Given the description of an element on the screen output the (x, y) to click on. 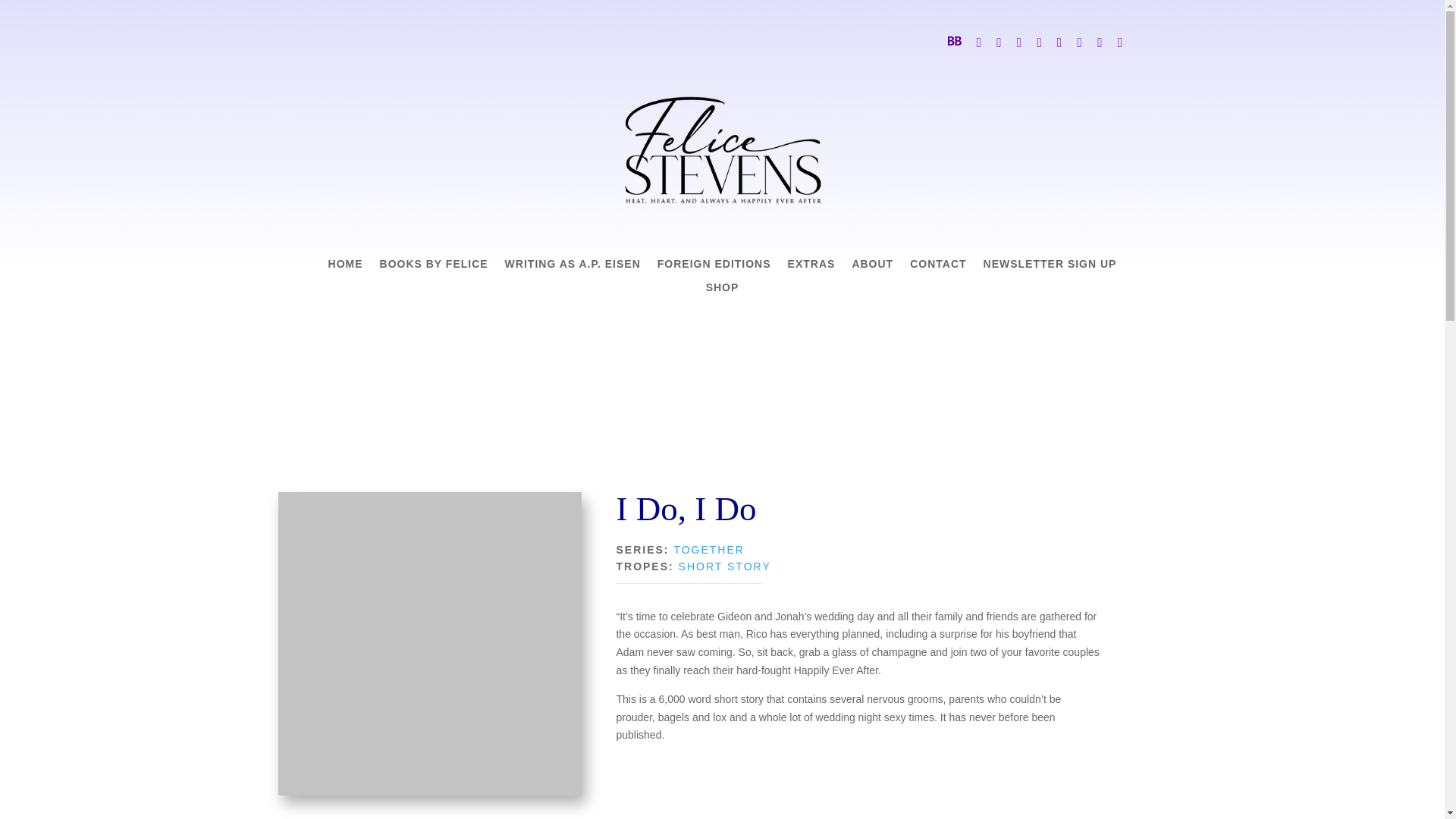
I Do I Do (429, 643)
FOREIGN EDITIONS (714, 267)
ABOUT (872, 267)
CONTACT (938, 267)
EXTRAS (811, 267)
WRITING AS A.P. EISEN (572, 267)
NEWSLETTER SIGN UP (1050, 267)
Felice Stevens (722, 150)
HOME (345, 267)
SHOP (722, 291)
